Given the description of an element on the screen output the (x, y) to click on. 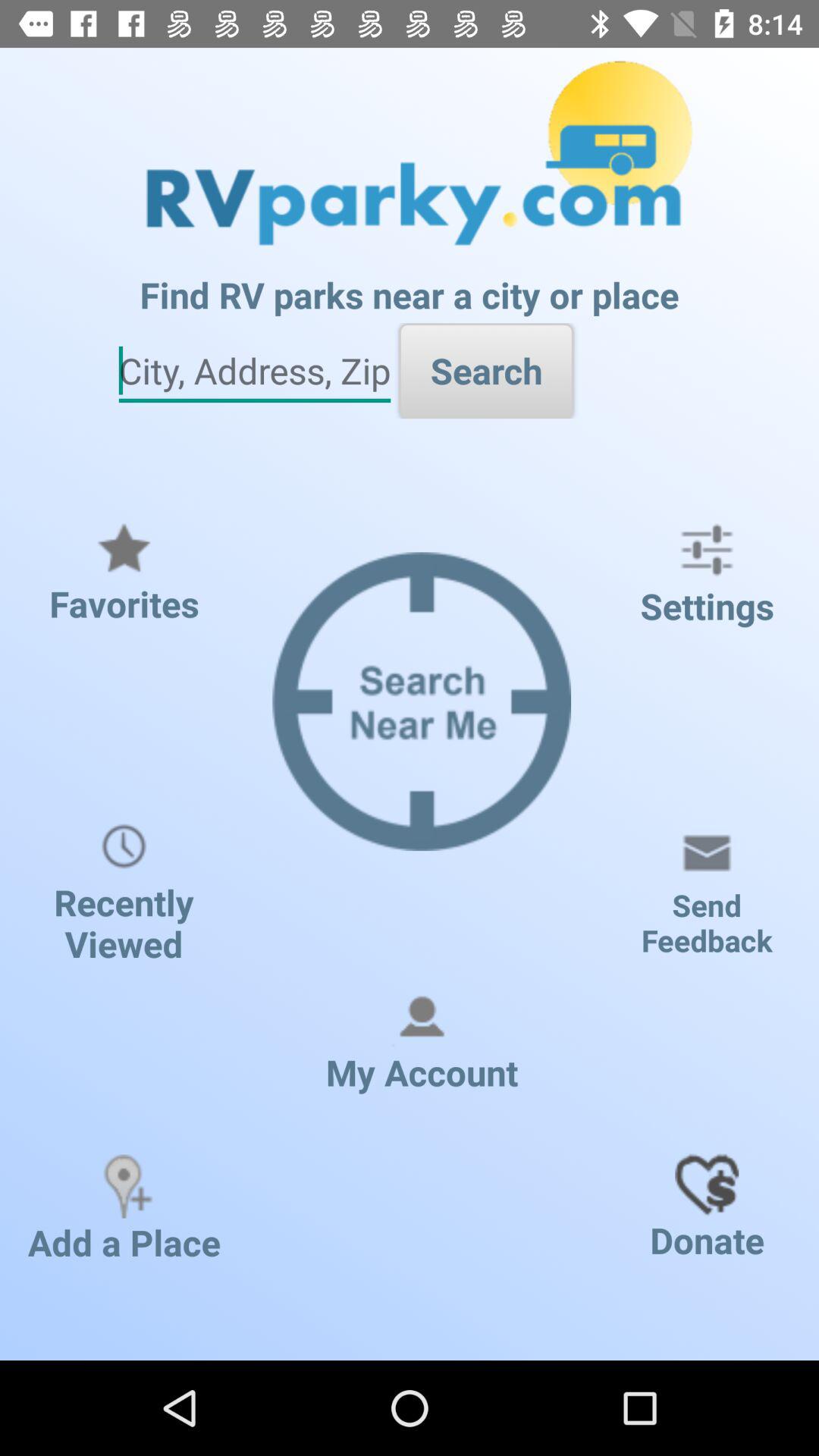
enter city/address/zip (254, 371)
